Given the description of an element on the screen output the (x, y) to click on. 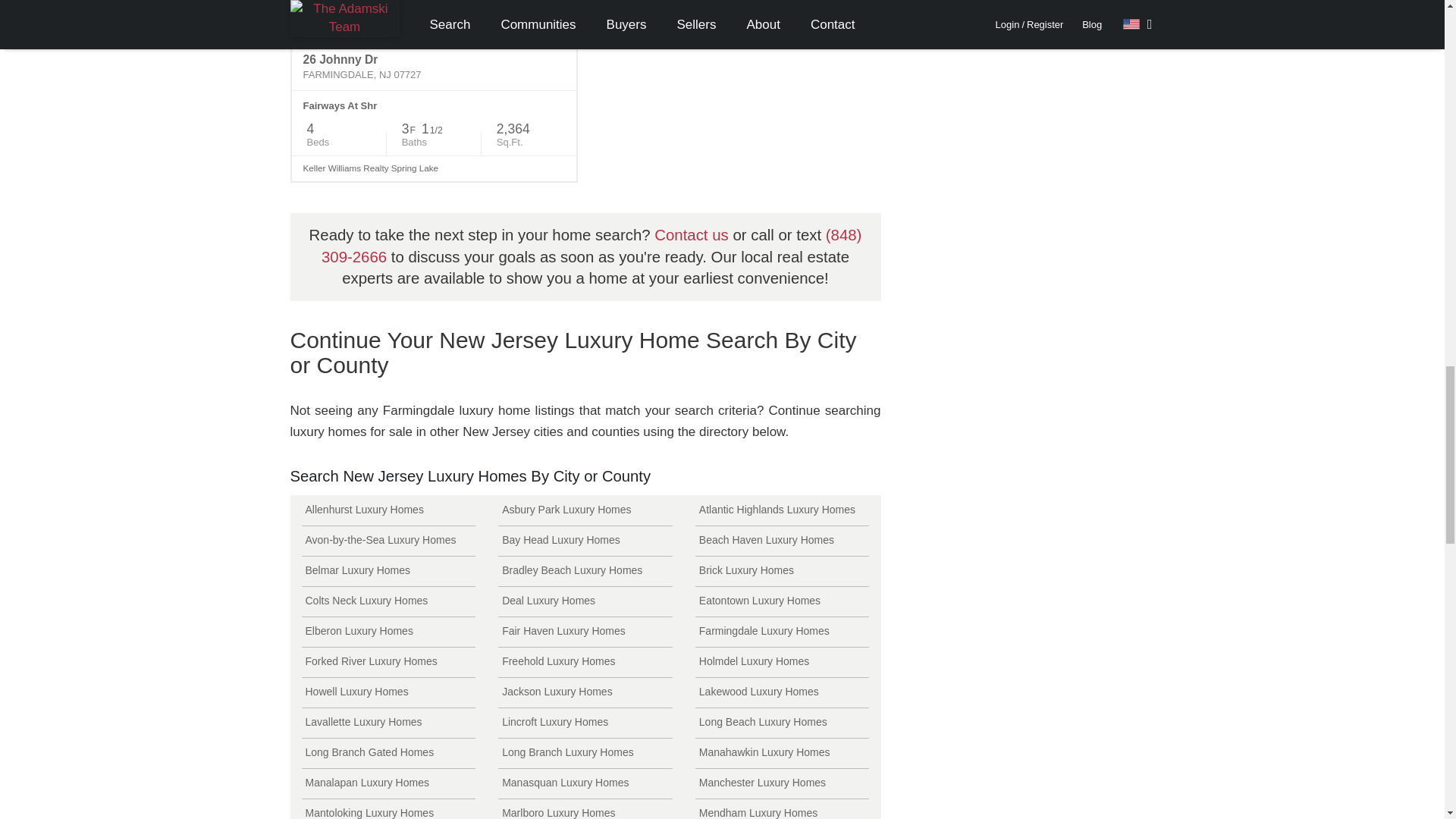
26 Johnny Dr Farmingdale,  NJ 07727 (433, 67)
View Allenhurst Luxury Homes (388, 510)
